Given the description of an element on the screen output the (x, y) to click on. 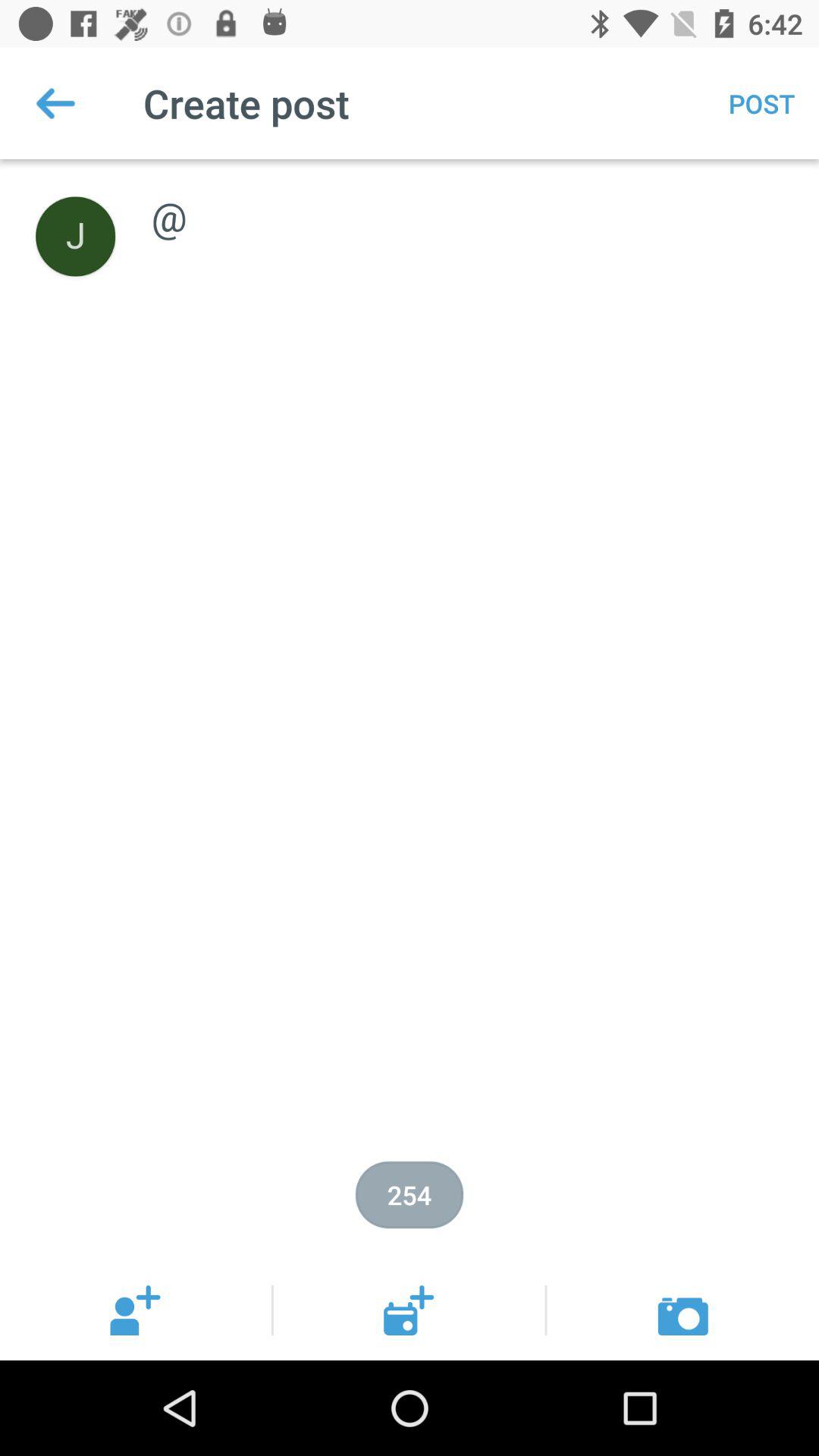
select icon above 254 item (469, 200)
